Given the description of an element on the screen output the (x, y) to click on. 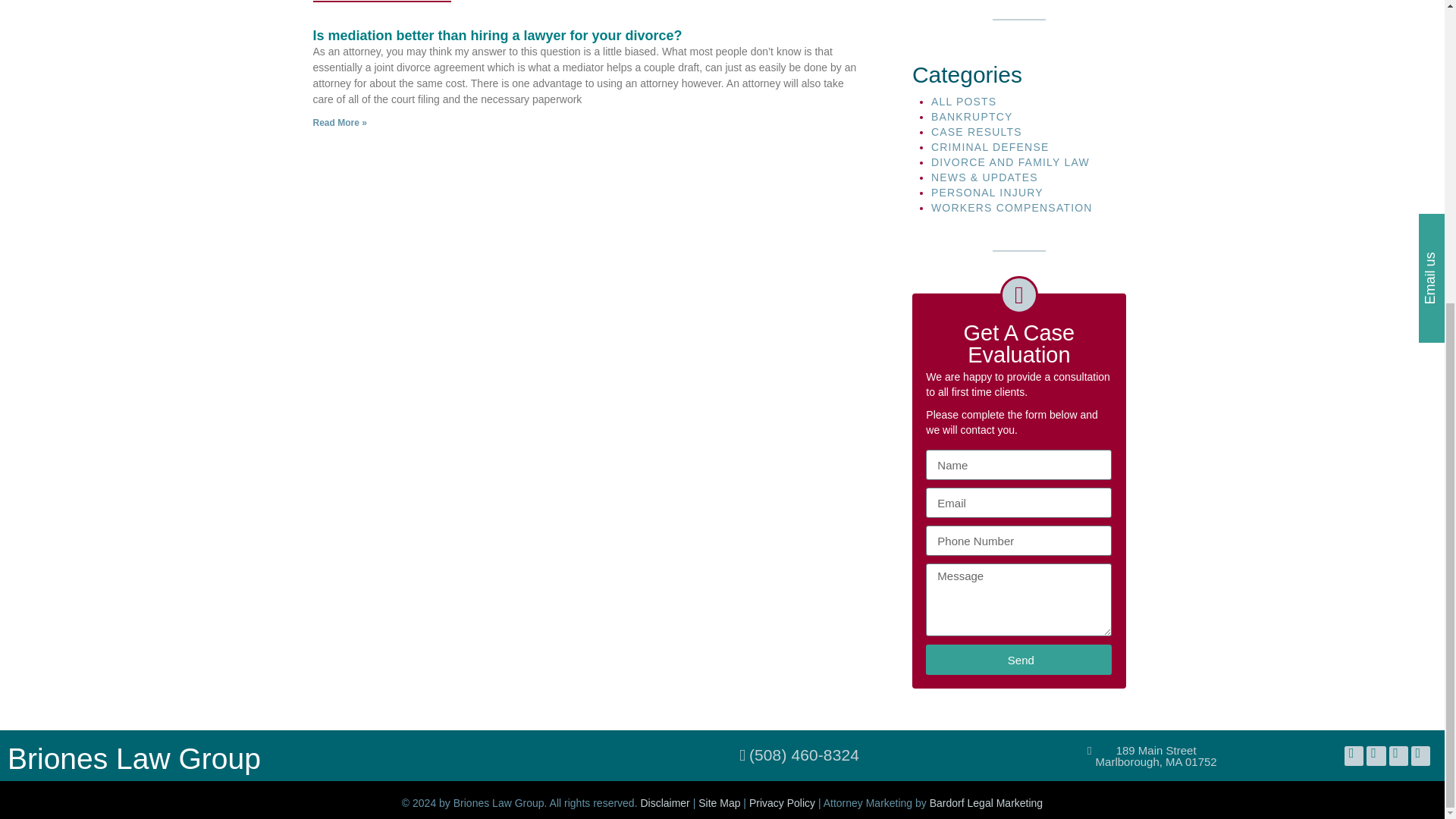
Is mediation better than hiring a lawyer for your divorce? (497, 35)
ALL POSTS (964, 101)
BANKRUPTCY (972, 116)
